Given the description of an element on the screen output the (x, y) to click on. 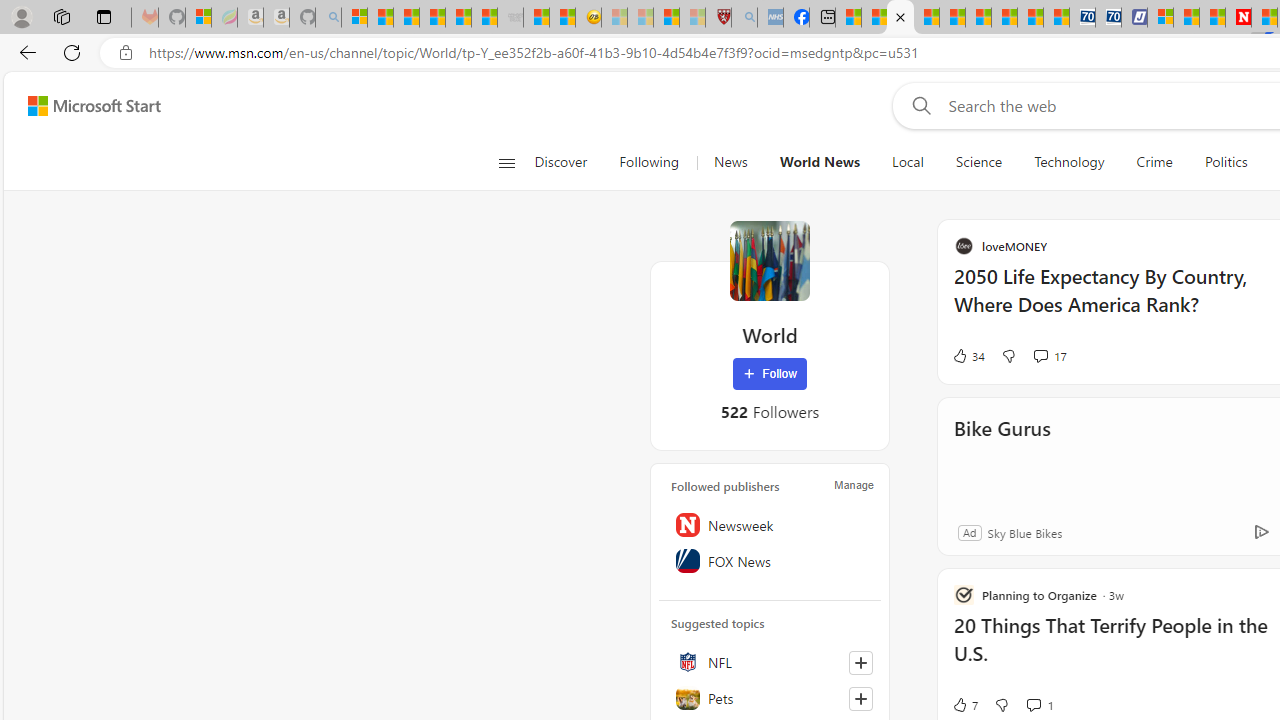
Manage (854, 484)
7 Like (964, 704)
Follow this topic (860, 698)
View comments 17 Comment (1040, 355)
